Given the description of an element on the screen output the (x, y) to click on. 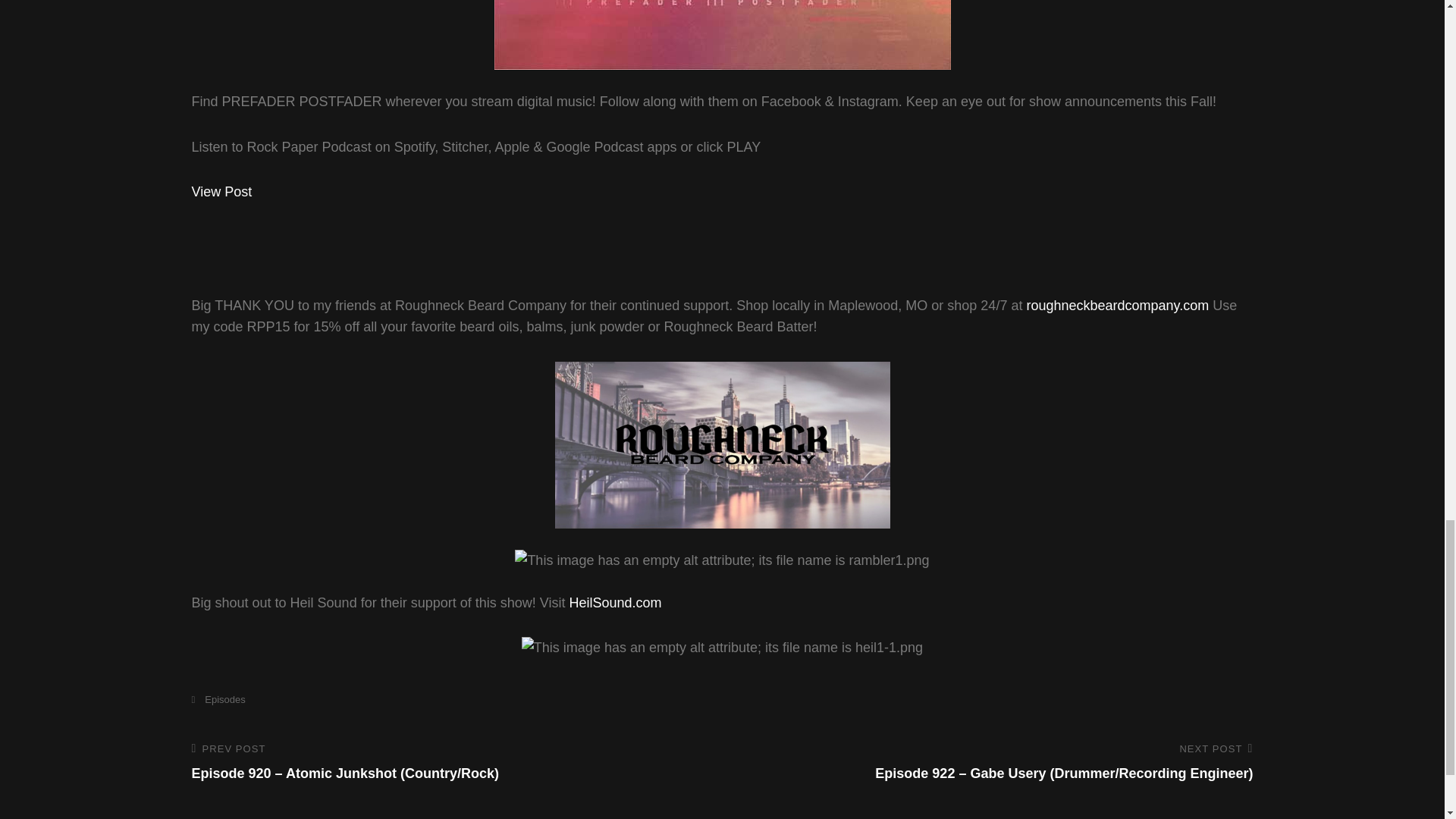
View Post (220, 191)
roughneckbeardcompany.com (1117, 305)
Episodes (217, 699)
HeilSound.com (615, 602)
